Given the description of an element on the screen output the (x, y) to click on. 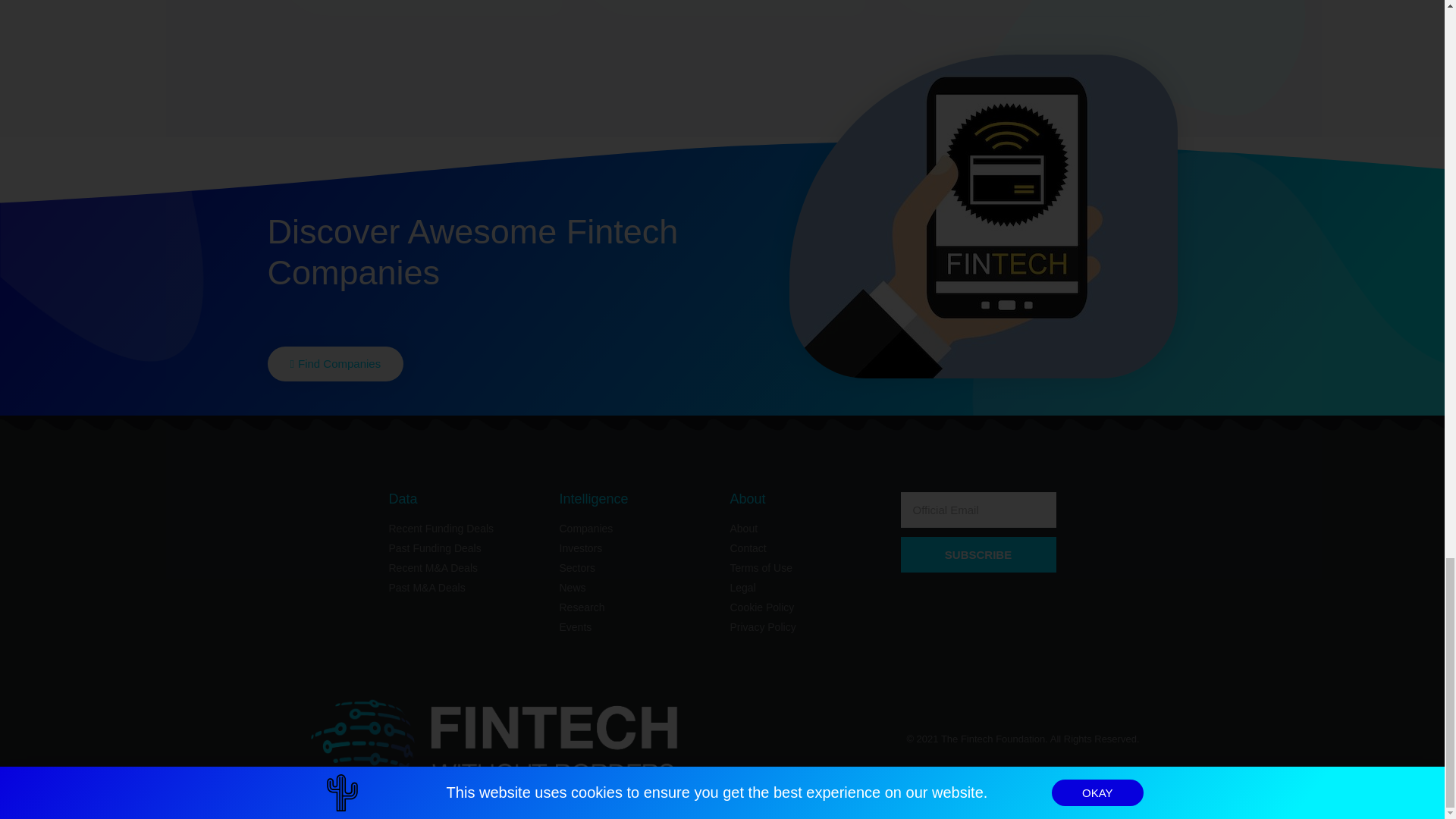
Privacy Policy (807, 627)
Events (636, 627)
Terms of Use (807, 568)
Research (636, 607)
Legal (807, 587)
Investors (636, 548)
Cookie Policy (807, 607)
About (807, 528)
Sectors (636, 568)
Recent Funding Deals (465, 528)
